Given the description of an element on the screen output the (x, y) to click on. 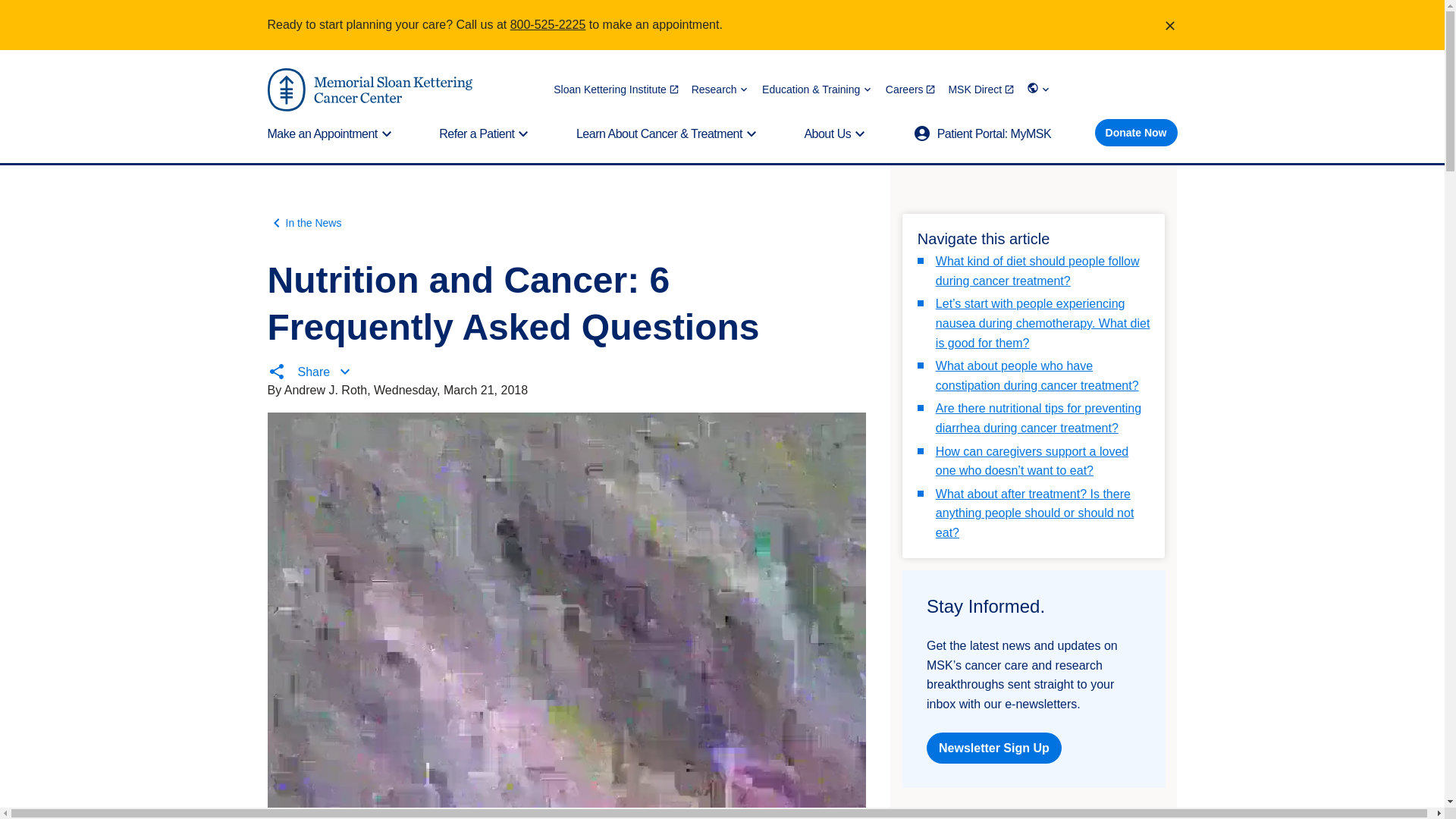
800-525-2225 (548, 24)
Newsletter Sign Up (993, 747)
Sloan Kettering Institute (615, 89)
Careers (910, 89)
Research (720, 89)
MSK Direct (980, 89)
Donate Now (1135, 132)
